Given the description of an element on the screen output the (x, y) to click on. 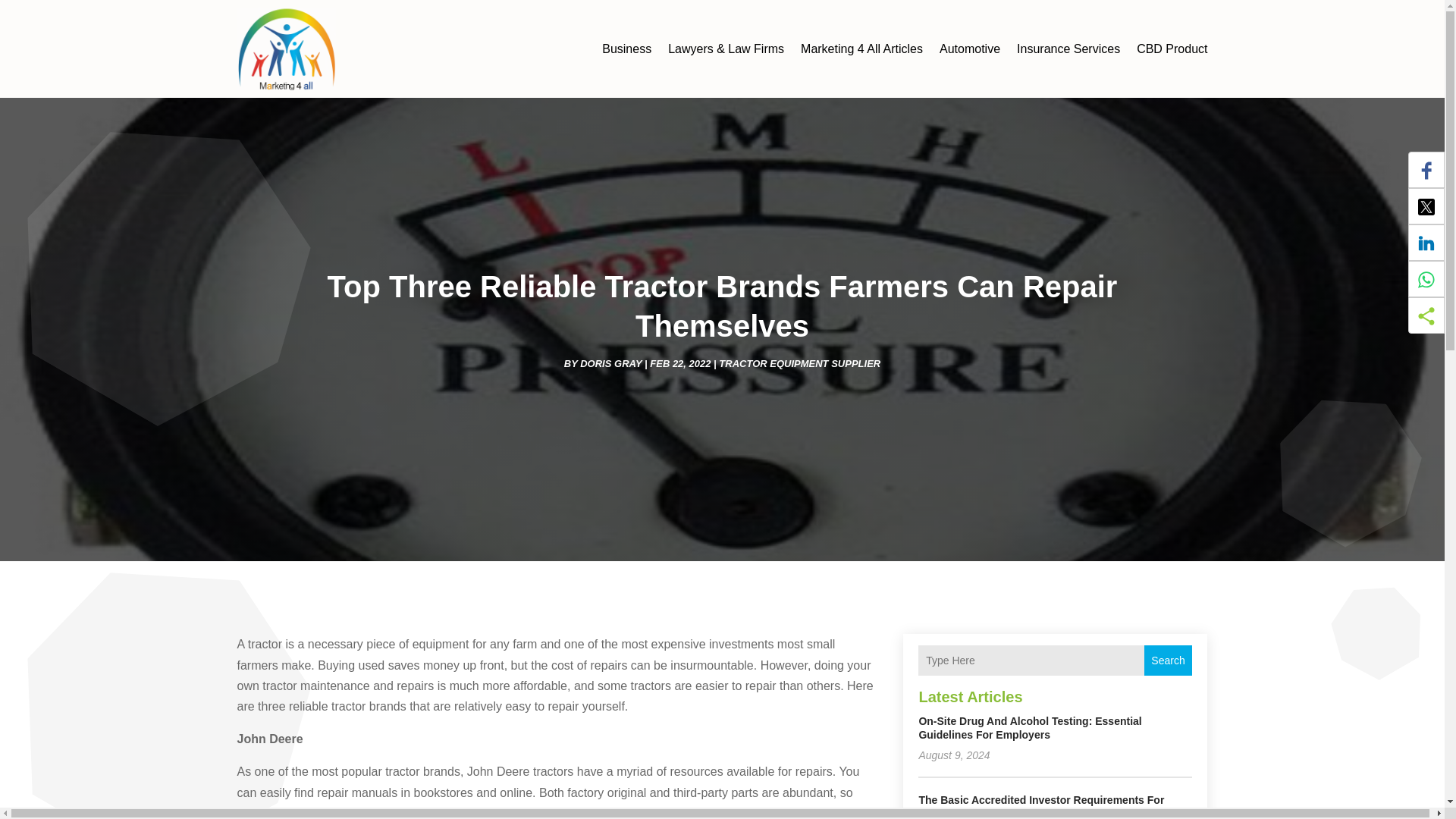
Insurance Services (1067, 48)
TRACTOR EQUIPMENT SUPPLIER (799, 363)
Search (1168, 660)
DORIS GRAY (610, 363)
The Basic Accredited Investor Requirements For Individuals (1040, 806)
Marketing 4 All Articles (861, 48)
Posts by Doris Gray (610, 363)
